Given the description of an element on the screen output the (x, y) to click on. 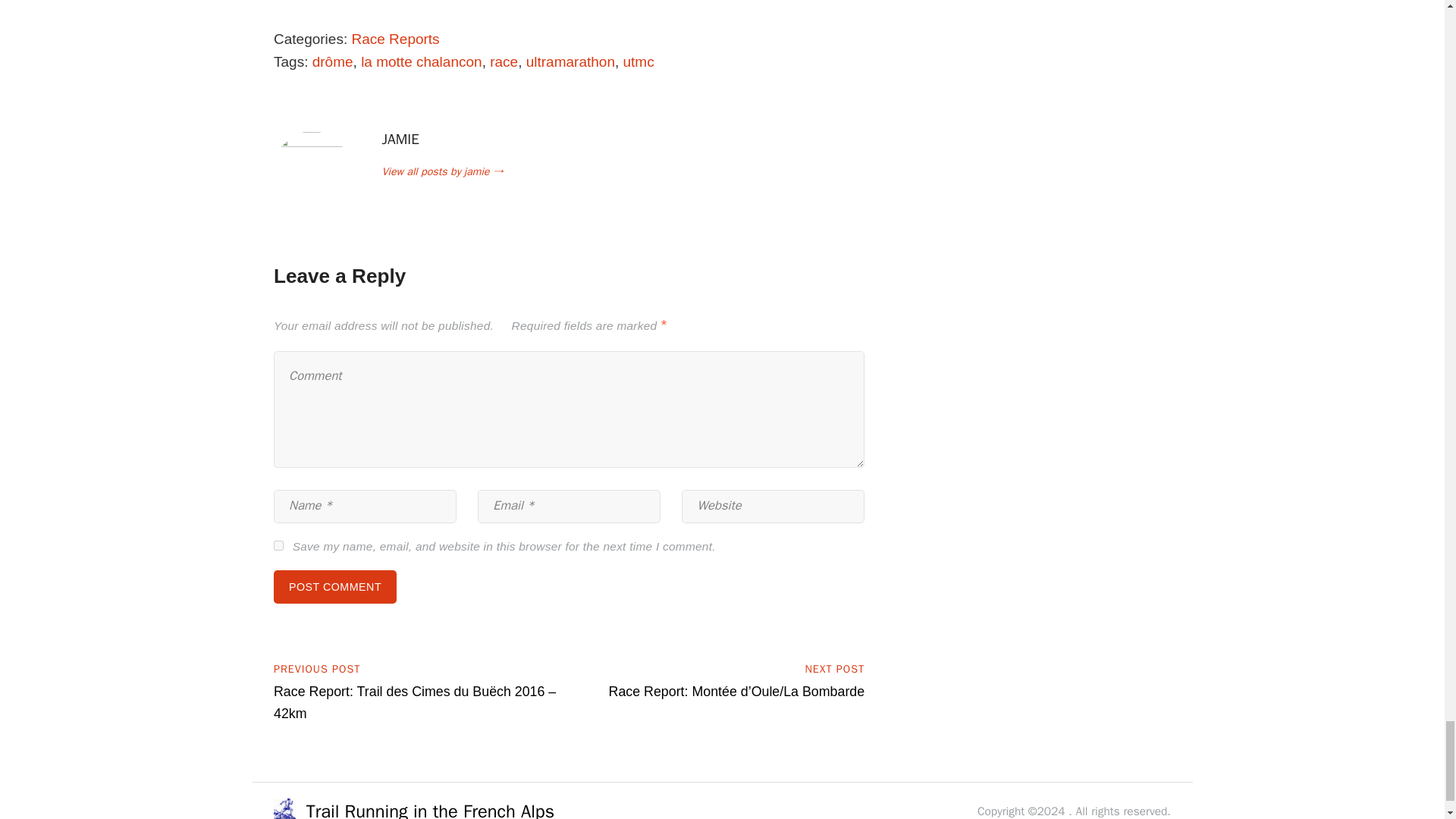
la motte chalancon (421, 61)
utmc (638, 61)
yes (278, 545)
Post Comment (334, 586)
ultramarathon (569, 61)
Race Reports (394, 38)
race (503, 61)
Post Comment (334, 586)
